Given the description of an element on the screen output the (x, y) to click on. 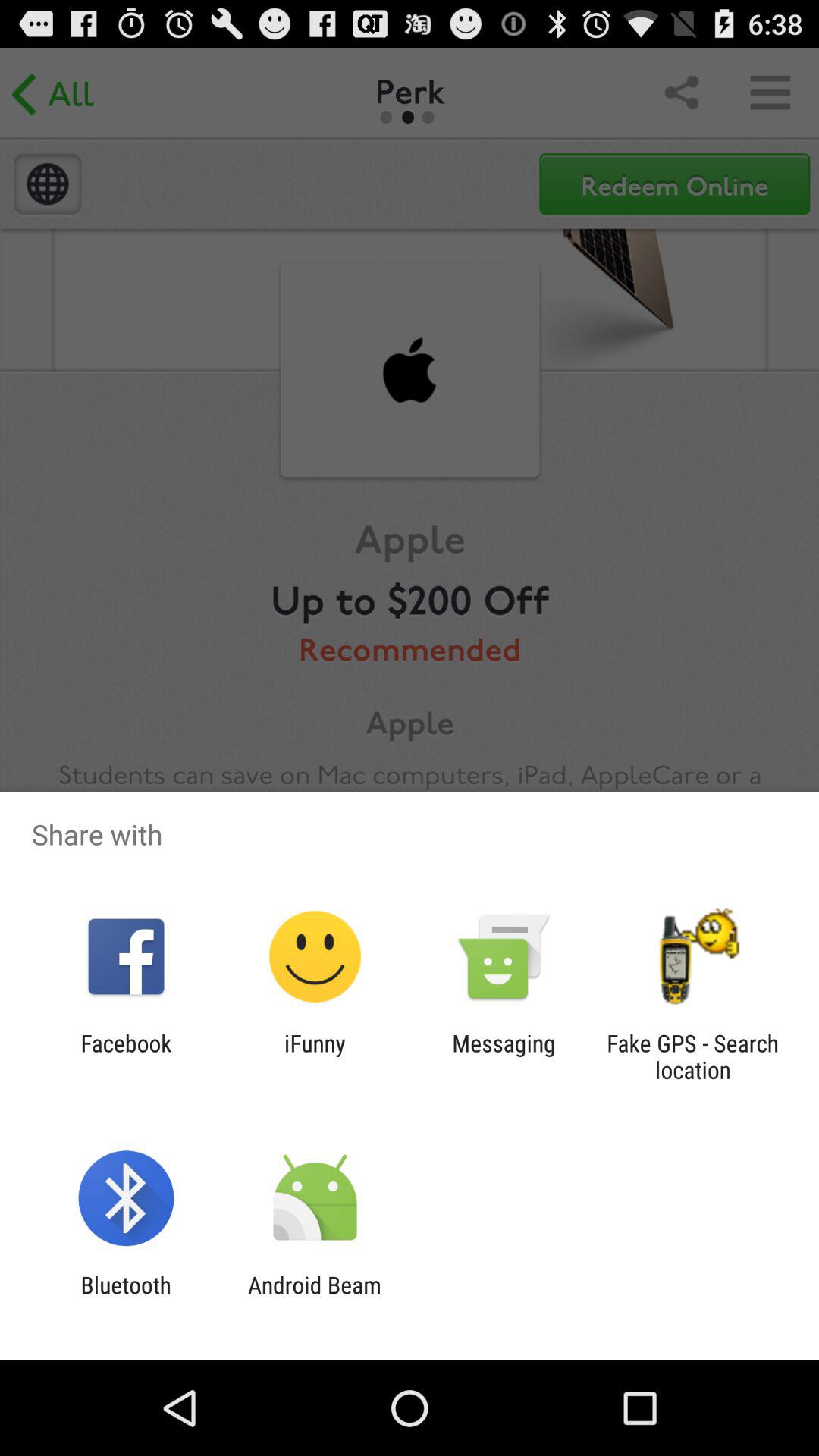
turn on icon next to fake gps search icon (503, 1056)
